Given the description of an element on the screen output the (x, y) to click on. 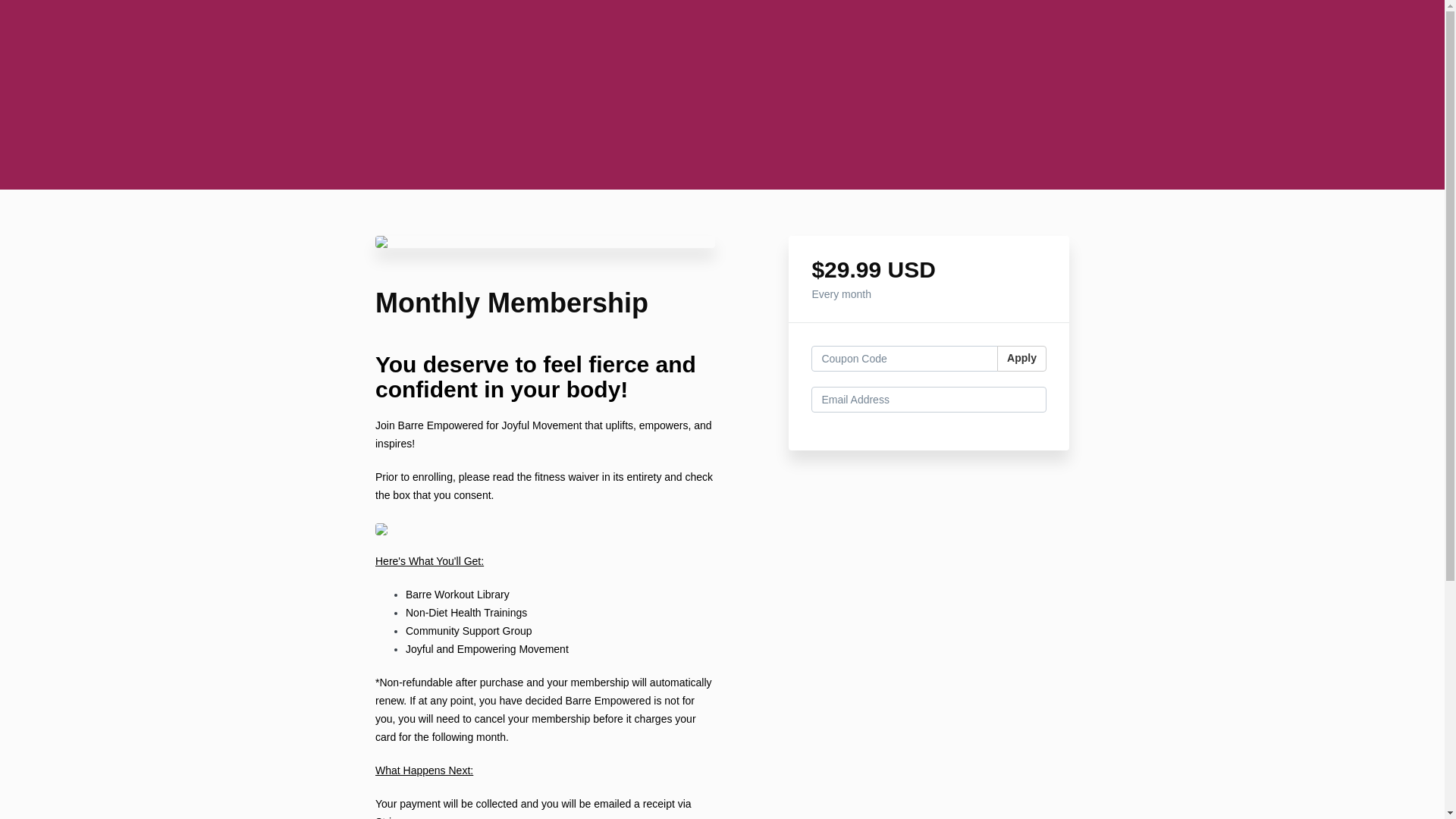
Apply (1021, 358)
